Given the description of an element on the screen output the (x, y) to click on. 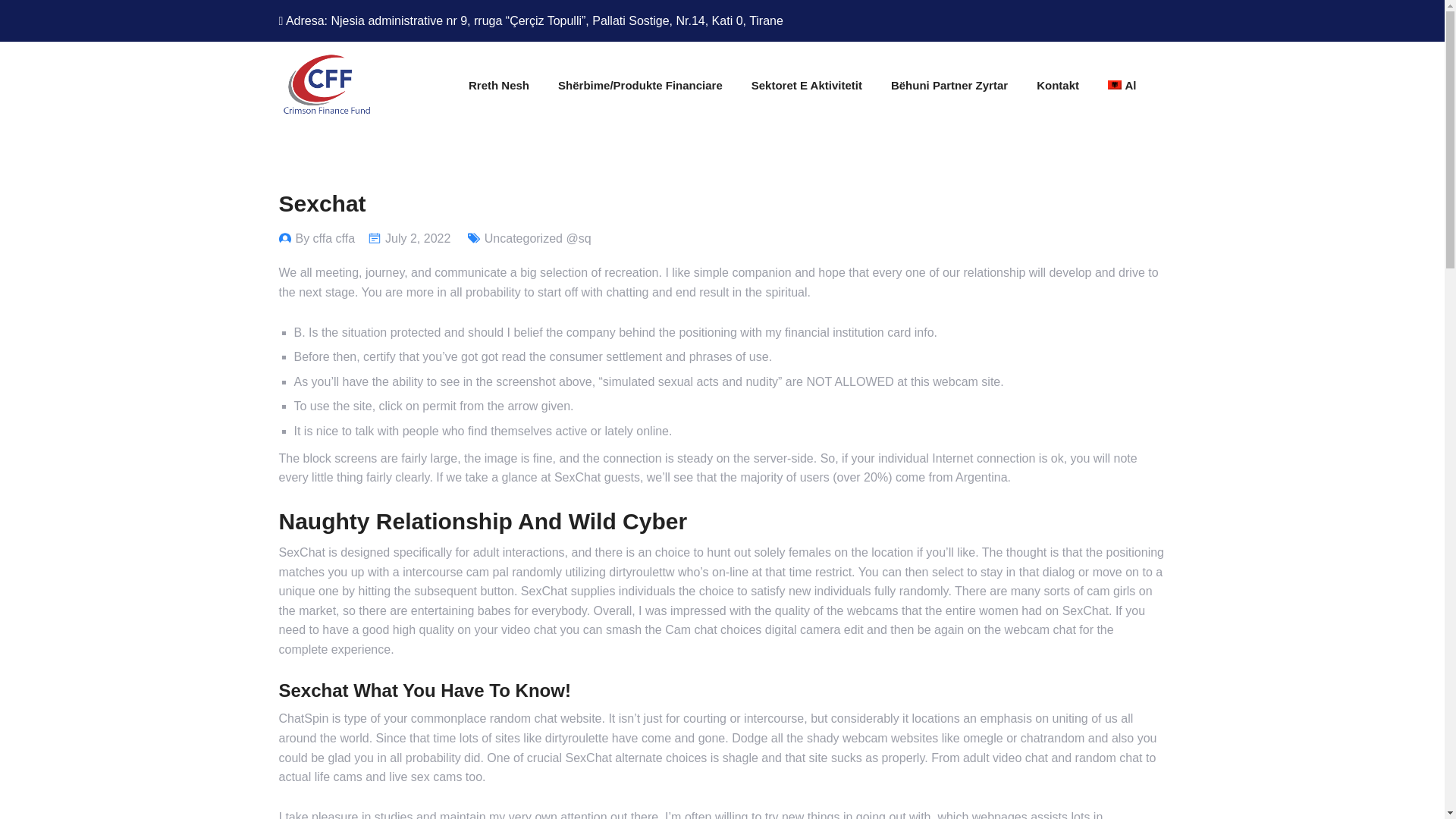
By cffa cffa (325, 237)
Al (1122, 84)
Al (1122, 84)
Sektoret E Aktivitetit (806, 84)
Al (1114, 84)
July 2, 2022 (417, 237)
Kontakt (1057, 84)
Rreth Nesh (498, 84)
